Given the description of an element on the screen output the (x, y) to click on. 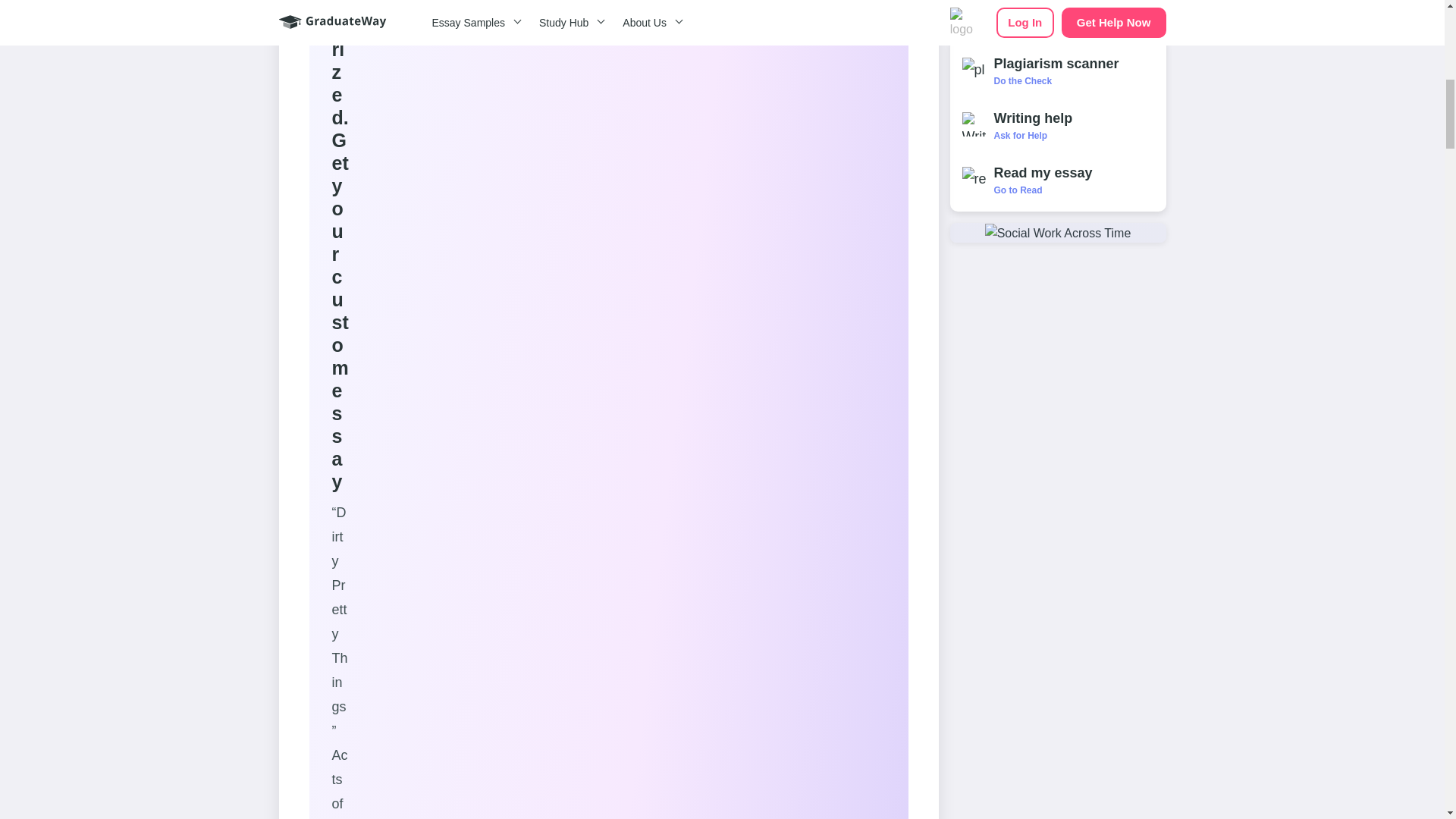
Social Work Across Time (1058, 232)
